Given the description of an element on the screen output the (x, y) to click on. 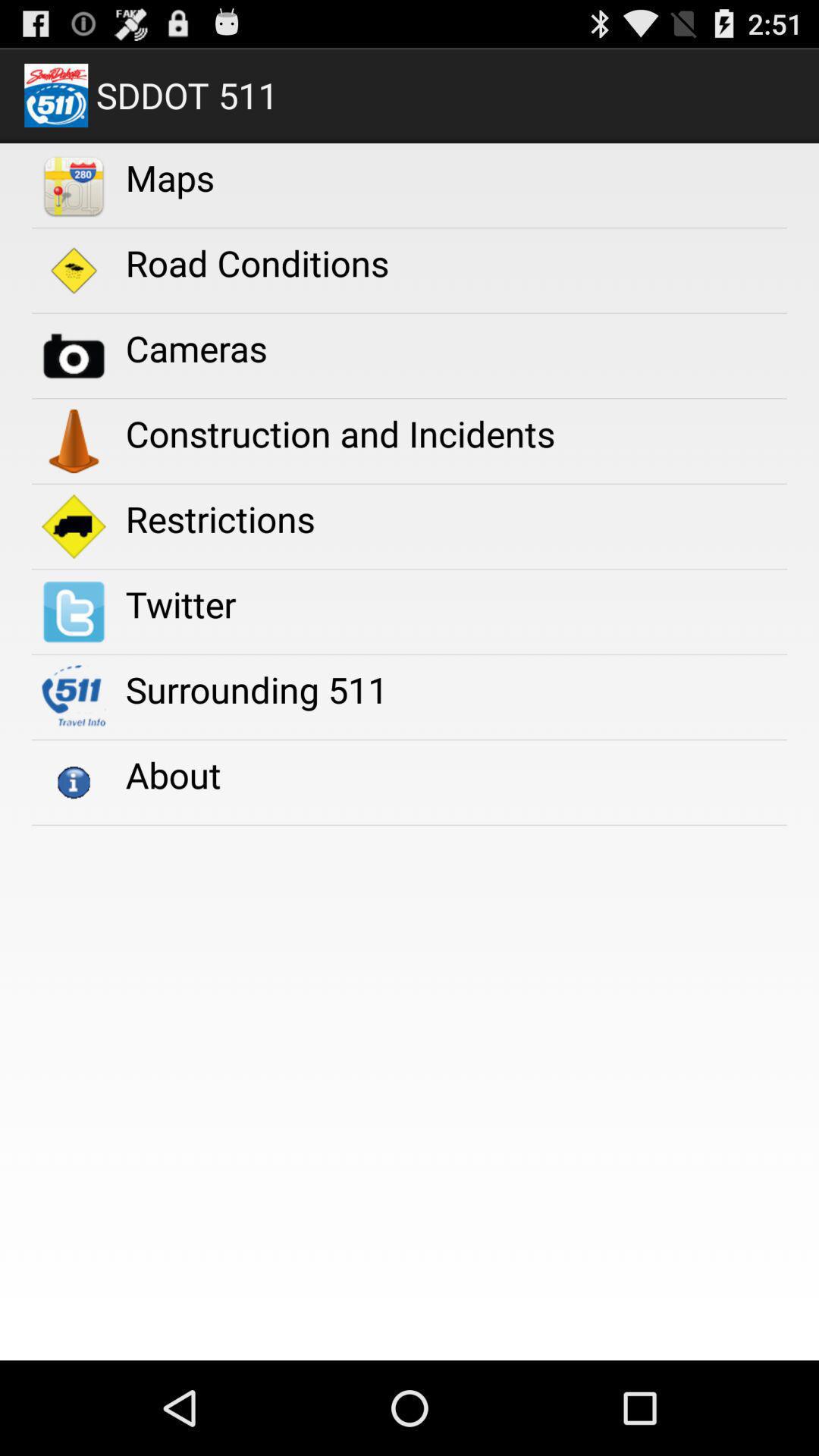
swipe to construction and incidents icon (340, 433)
